Given the description of an element on the screen output the (x, y) to click on. 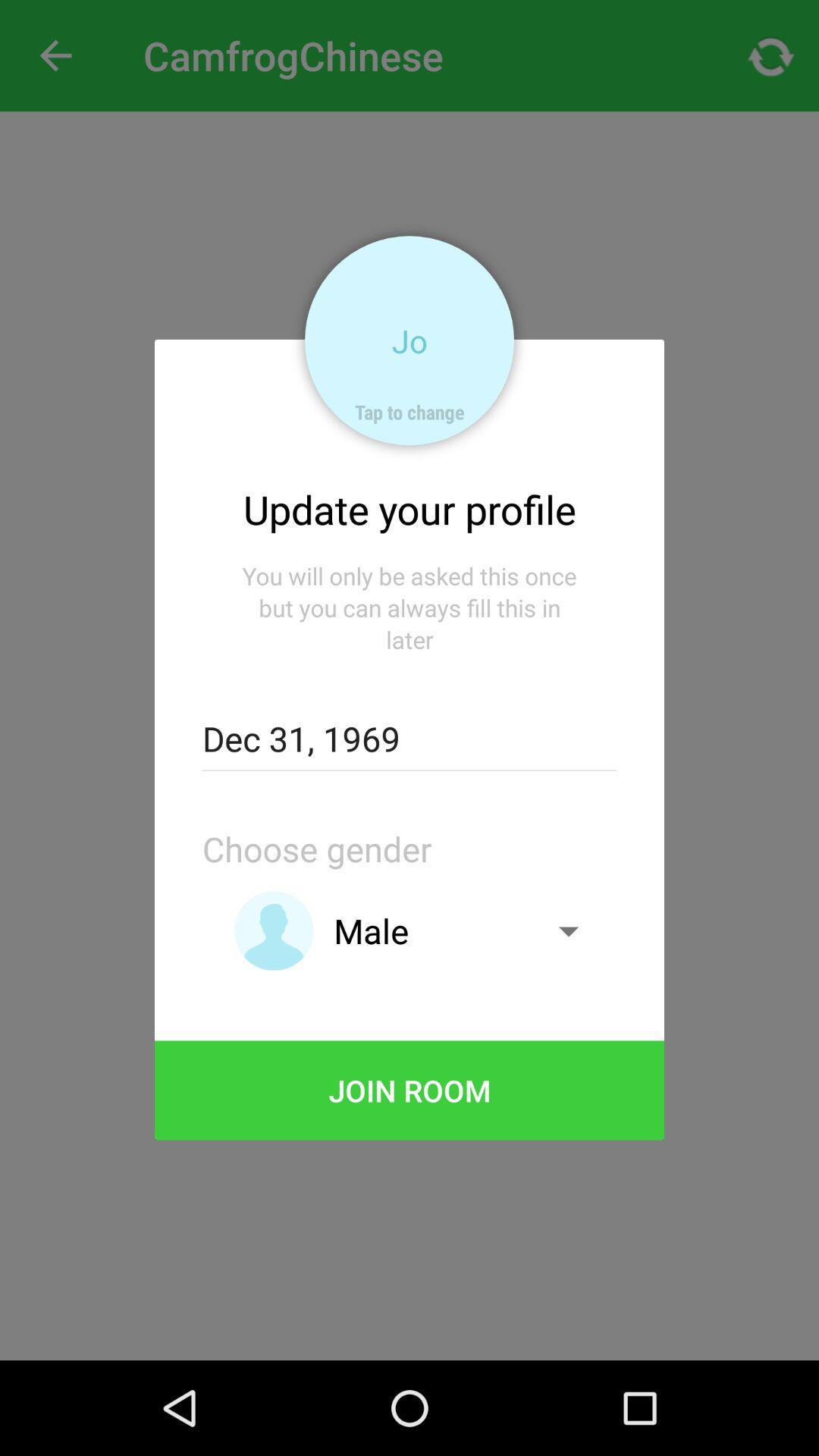
turn off dec 31, 1969 icon (409, 739)
